Given the description of an element on the screen output the (x, y) to click on. 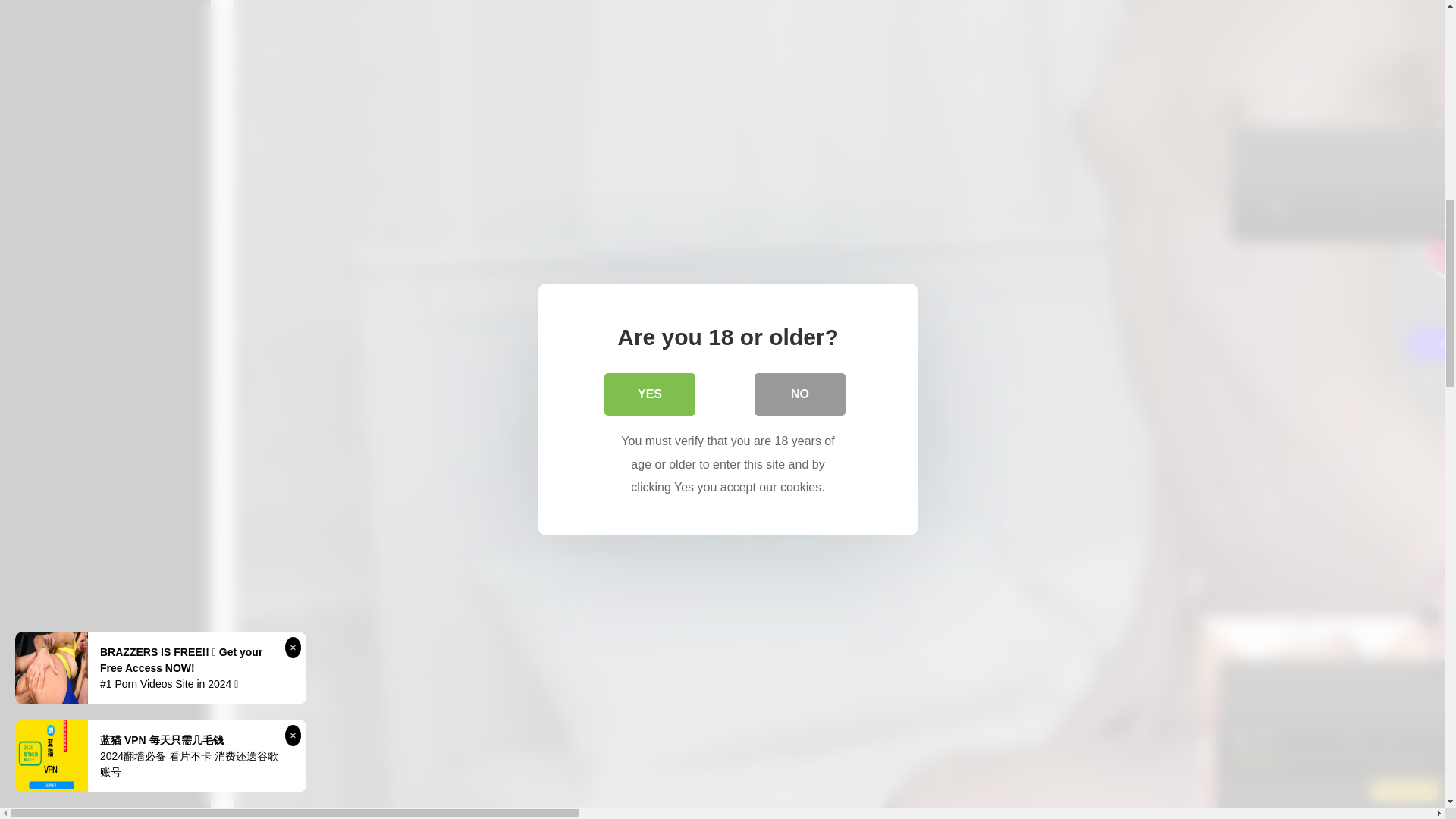
Close Advertising (1432, 343)
